Given the description of an element on the screen output the (x, y) to click on. 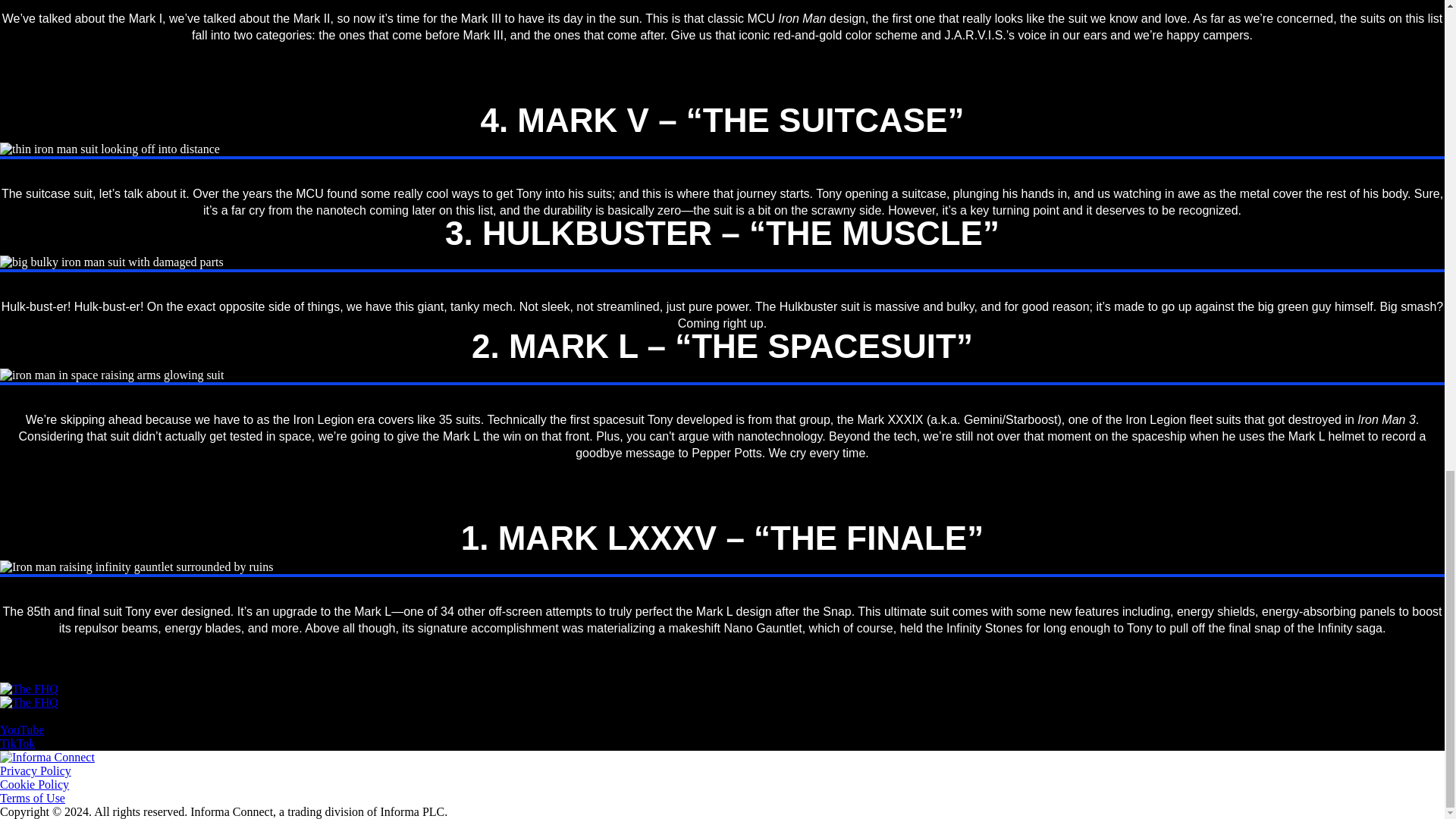
YouTube (21, 729)
Cookie Policy (34, 784)
TikTok (17, 743)
Privacy Policy (35, 770)
Terms of Use (32, 797)
